Given the description of an element on the screen output the (x, y) to click on. 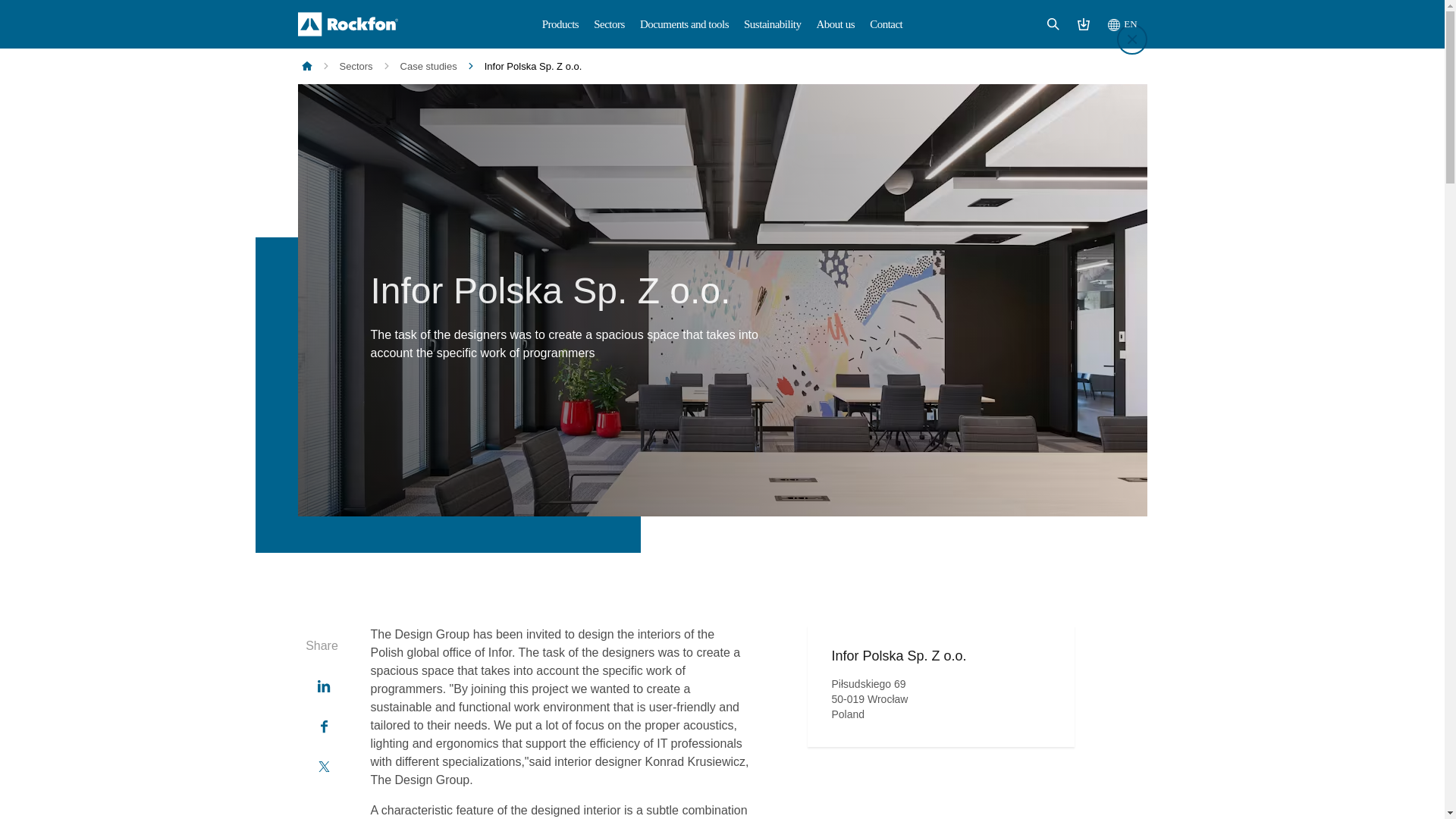
EN (1122, 24)
Sustainability (772, 24)
Sectors (608, 24)
Products (560, 24)
About us (836, 24)
Contact (885, 24)
Documents and tools (683, 24)
